Given the description of an element on the screen output the (x, y) to click on. 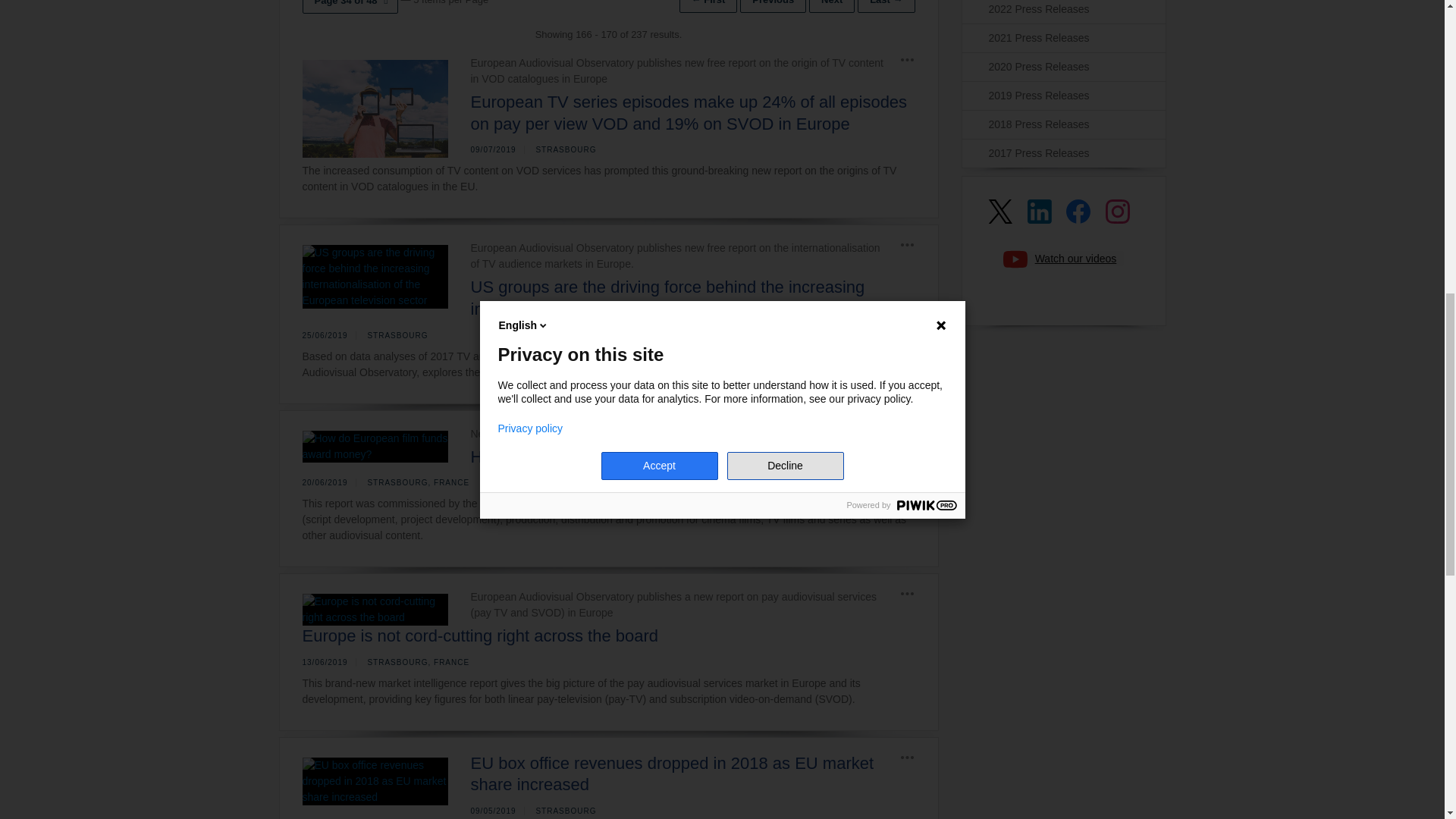
Page 34 of 48 (349, 6)
